Given the description of an element on the screen output the (x, y) to click on. 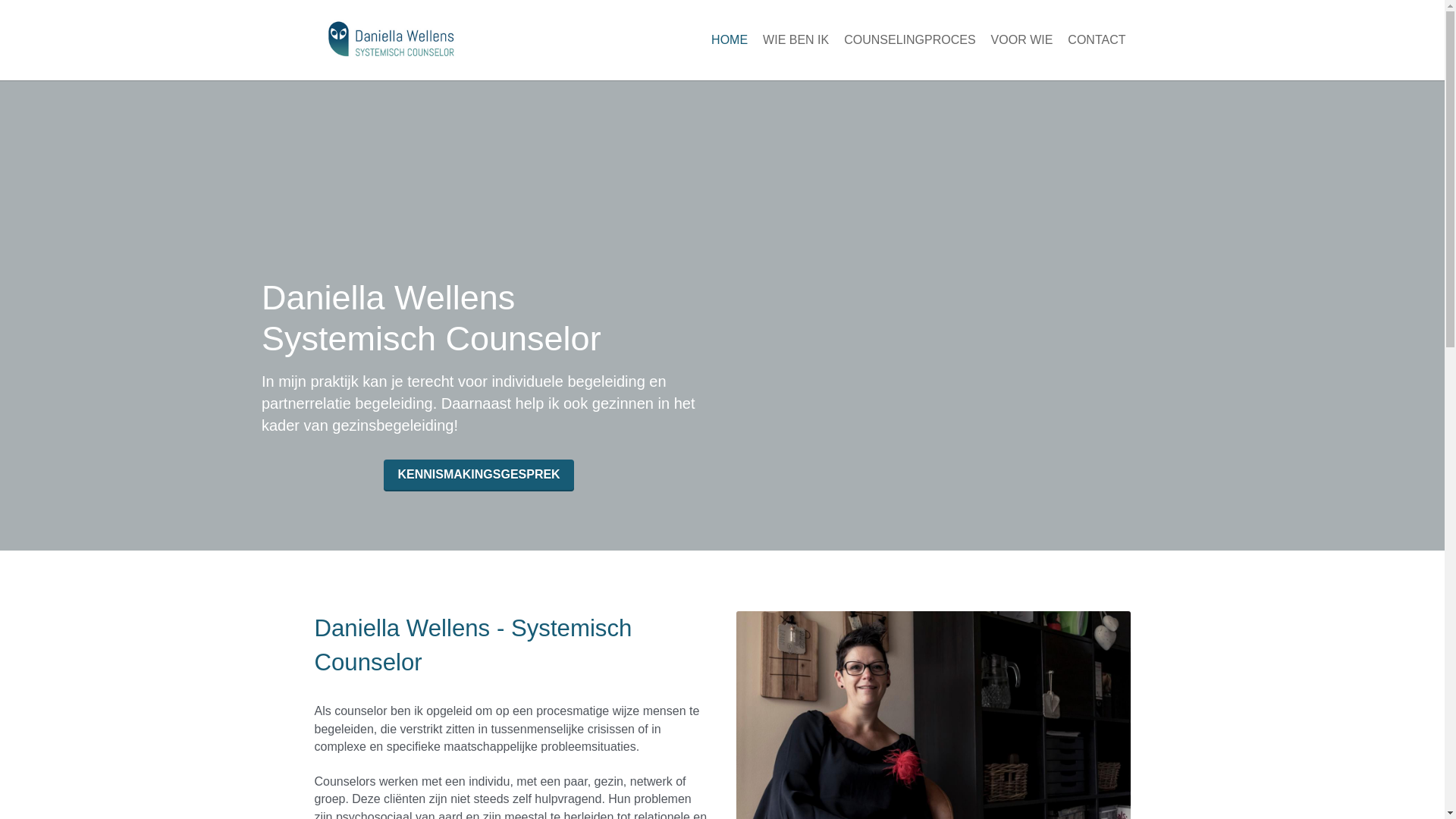
WIE BEN IK Element type: text (795, 40)
COUNSELINGPROCES Element type: text (909, 40)
HOME Element type: text (729, 40)
VOOR WIE Element type: text (1022, 40)
CONTACT Element type: text (1096, 40)
KENNISMAKINGSGESPREK Element type: text (478, 474)
